Given the description of an element on the screen output the (x, y) to click on. 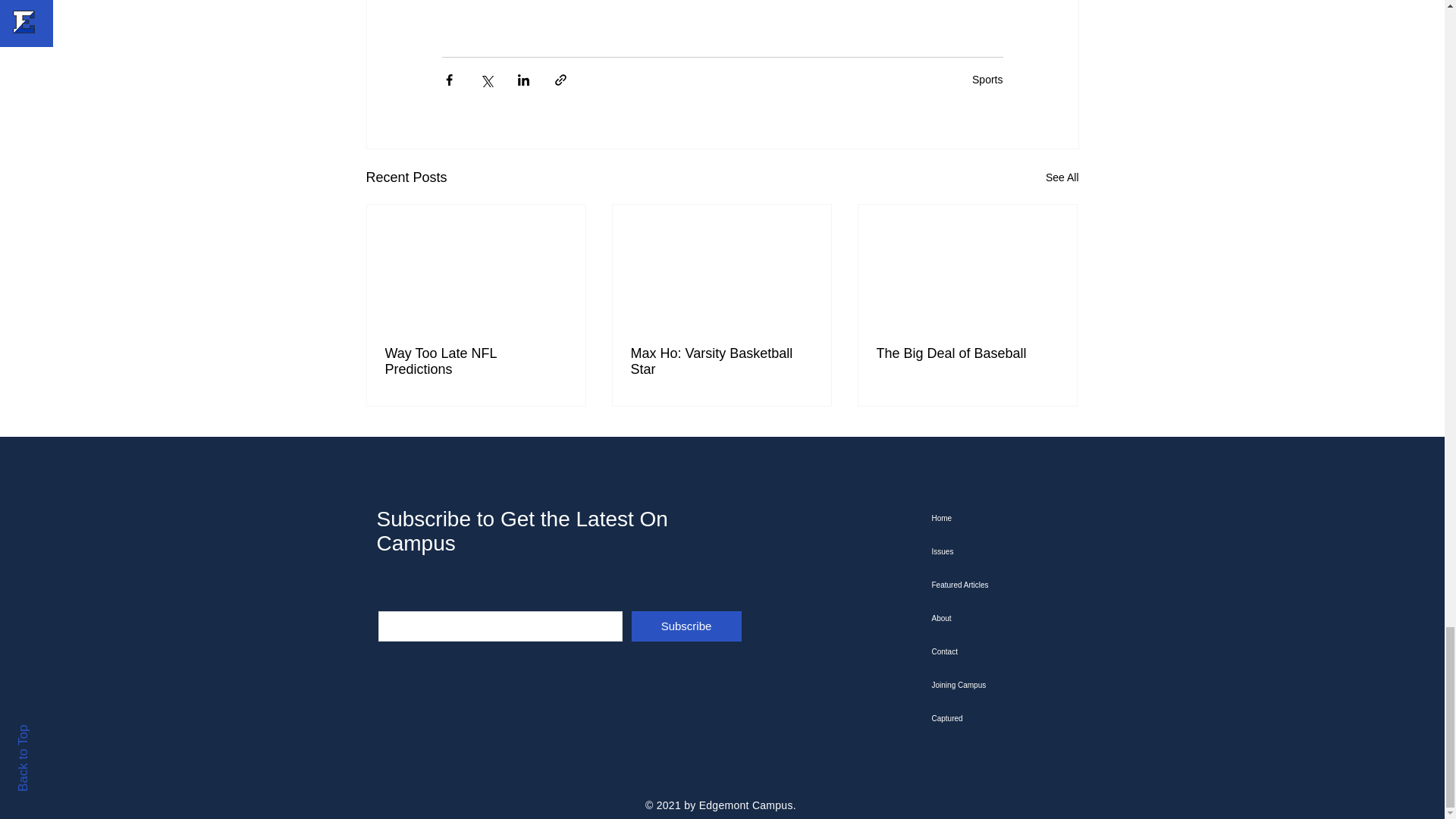
The Big Deal of Baseball (967, 353)
Max Ho: Varsity Basketball Star (721, 361)
Sports (987, 79)
Way Too Late NFL Predictions (476, 361)
See All (1061, 178)
